Given the description of an element on the screen output the (x, y) to click on. 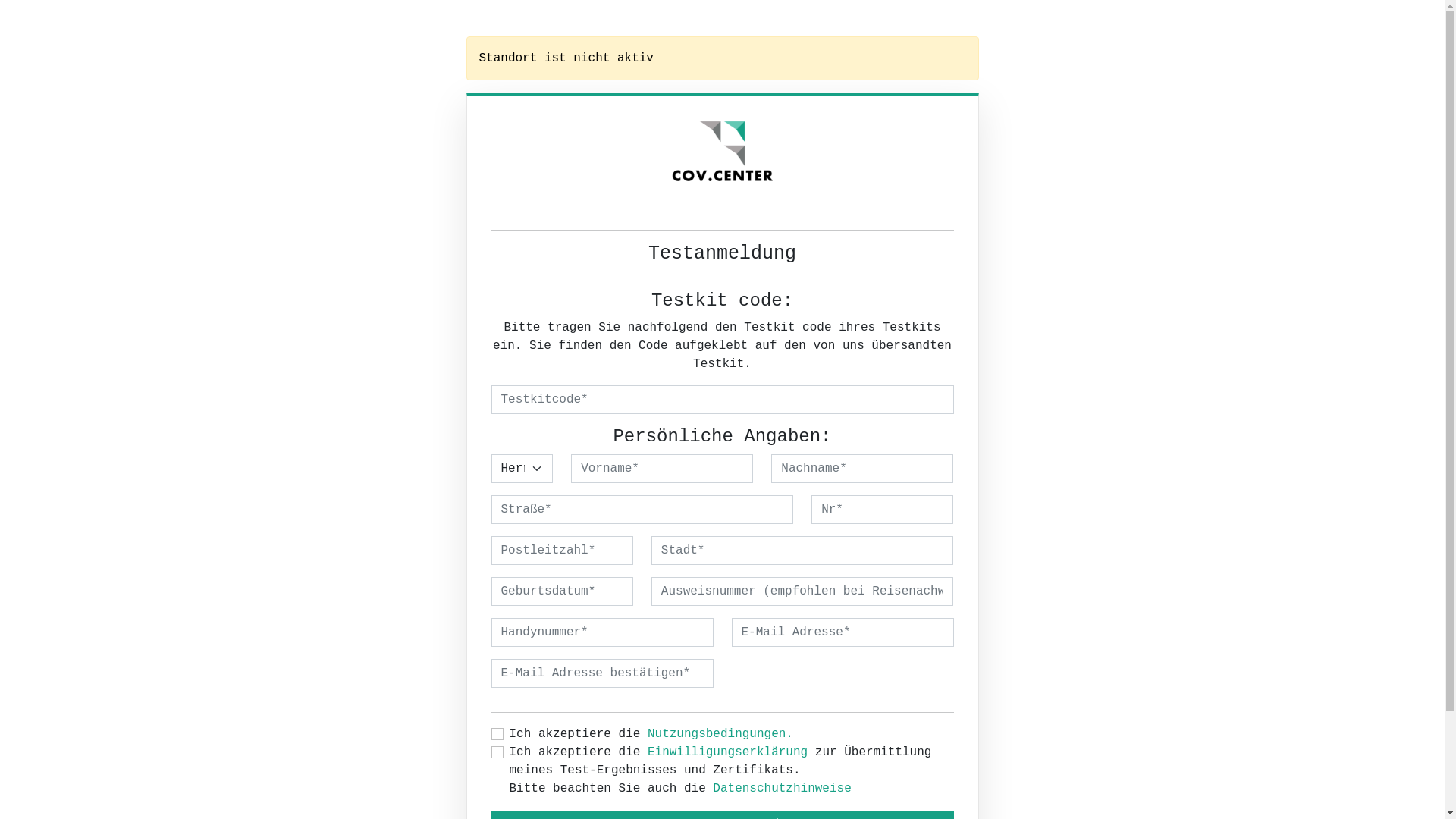
Datenschutzhinweise Element type: text (781, 788)
Nutzungsbedingungen. Element type: text (720, 733)
